Given the description of an element on the screen output the (x, y) to click on. 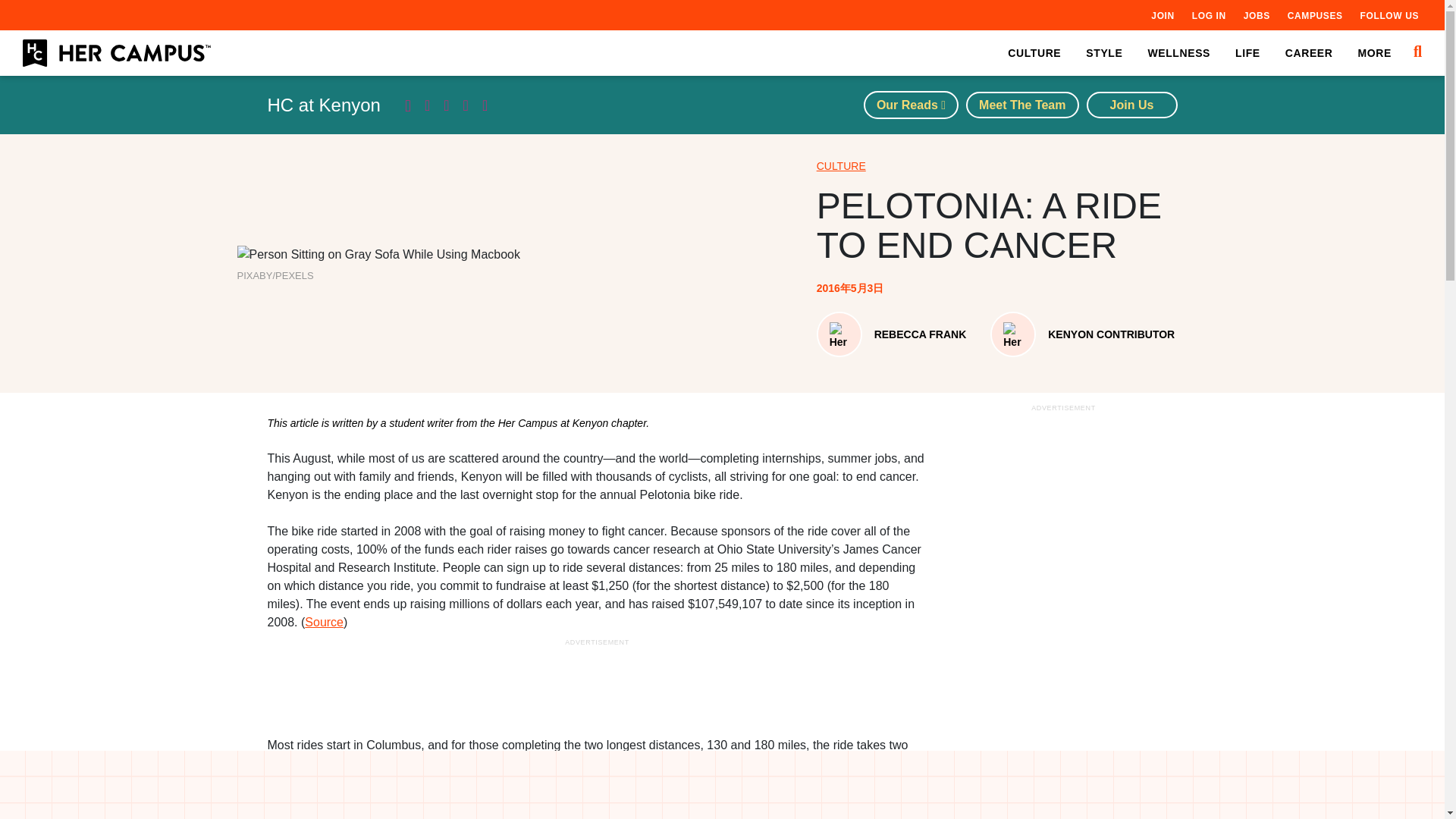
CAMPUSES (1314, 15)
JOBS (1256, 15)
JOIN (1162, 15)
Pelotonia: A Ride to End Cancer 1 (377, 254)
LOG IN (1208, 15)
